Given the description of an element on the screen output the (x, y) to click on. 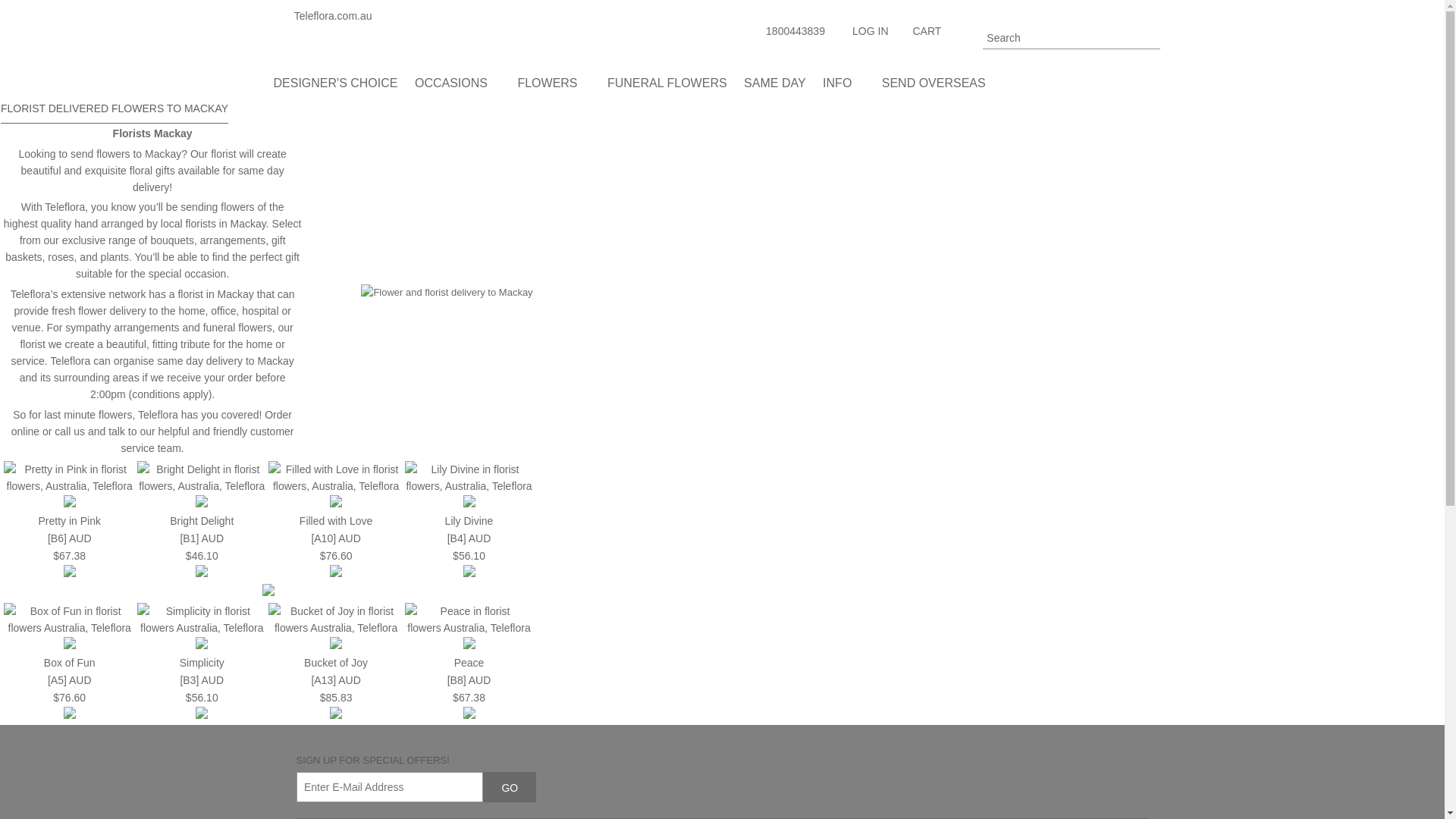
Bright Delight in Mackay, Australia, Teleflora (201, 485)
FLOWERS (553, 86)
Search (1071, 38)
CART (919, 36)
DESIGNER'S CHOICE (334, 86)
OCCASIONS (457, 86)
Go (1149, 39)
Pretty in Pink in Mackay, Australia, Teleflora (69, 538)
1800443839 (795, 30)
log In (866, 33)
Teleflora.com.au (363, 15)
Pretty in Pink in Mackay, Australia, Teleflora (68, 521)
Pretty in Pink in Mackay, Australia, Teleflora (71, 564)
Bright Delight in Mackay, Australia, Teleflora (201, 521)
Bright Delight in Mackay, Australia, Teleflora (201, 573)
